Given the description of an element on the screen output the (x, y) to click on. 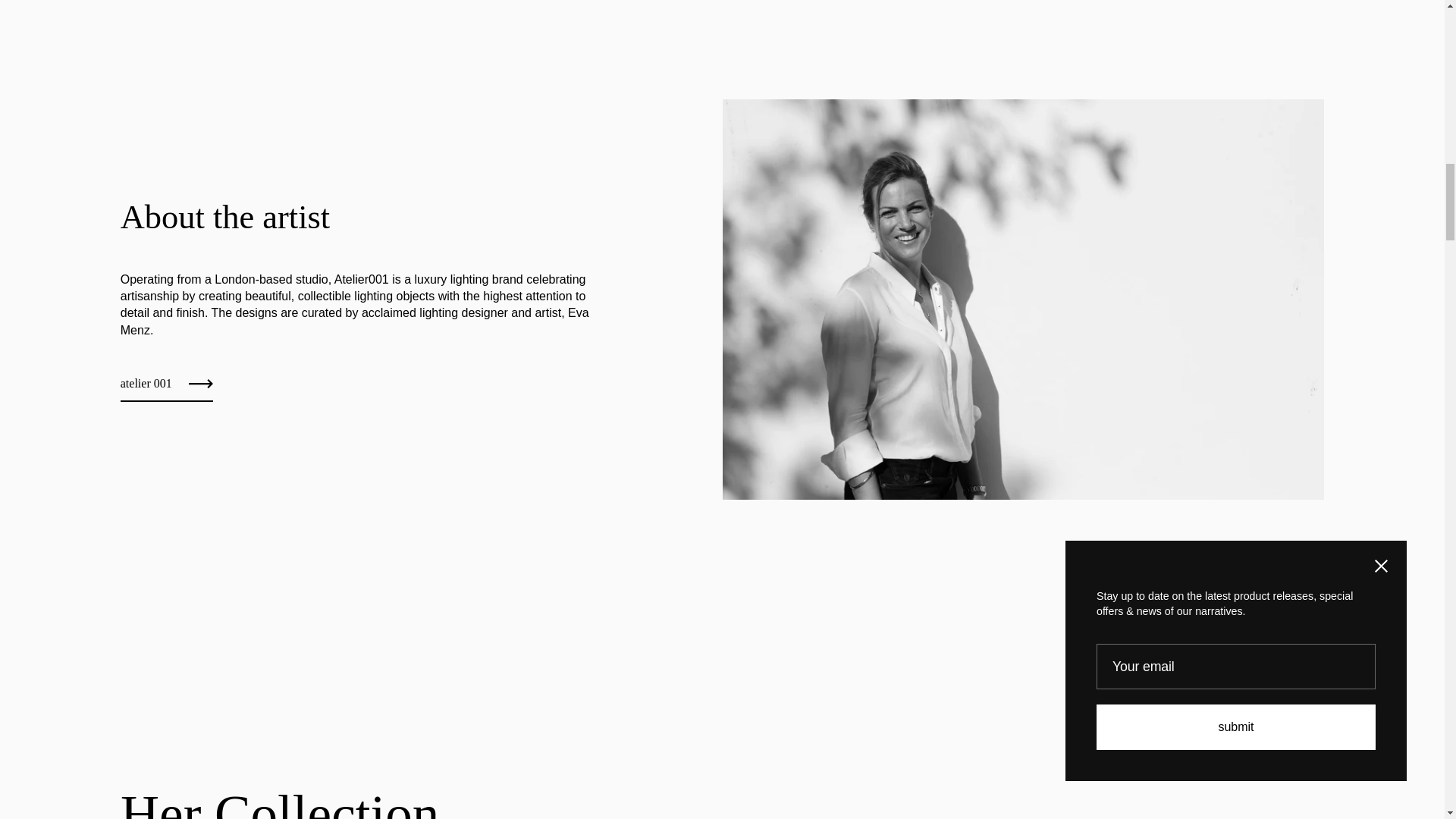
Atelier 001 (166, 388)
